Given the description of an element on the screen output the (x, y) to click on. 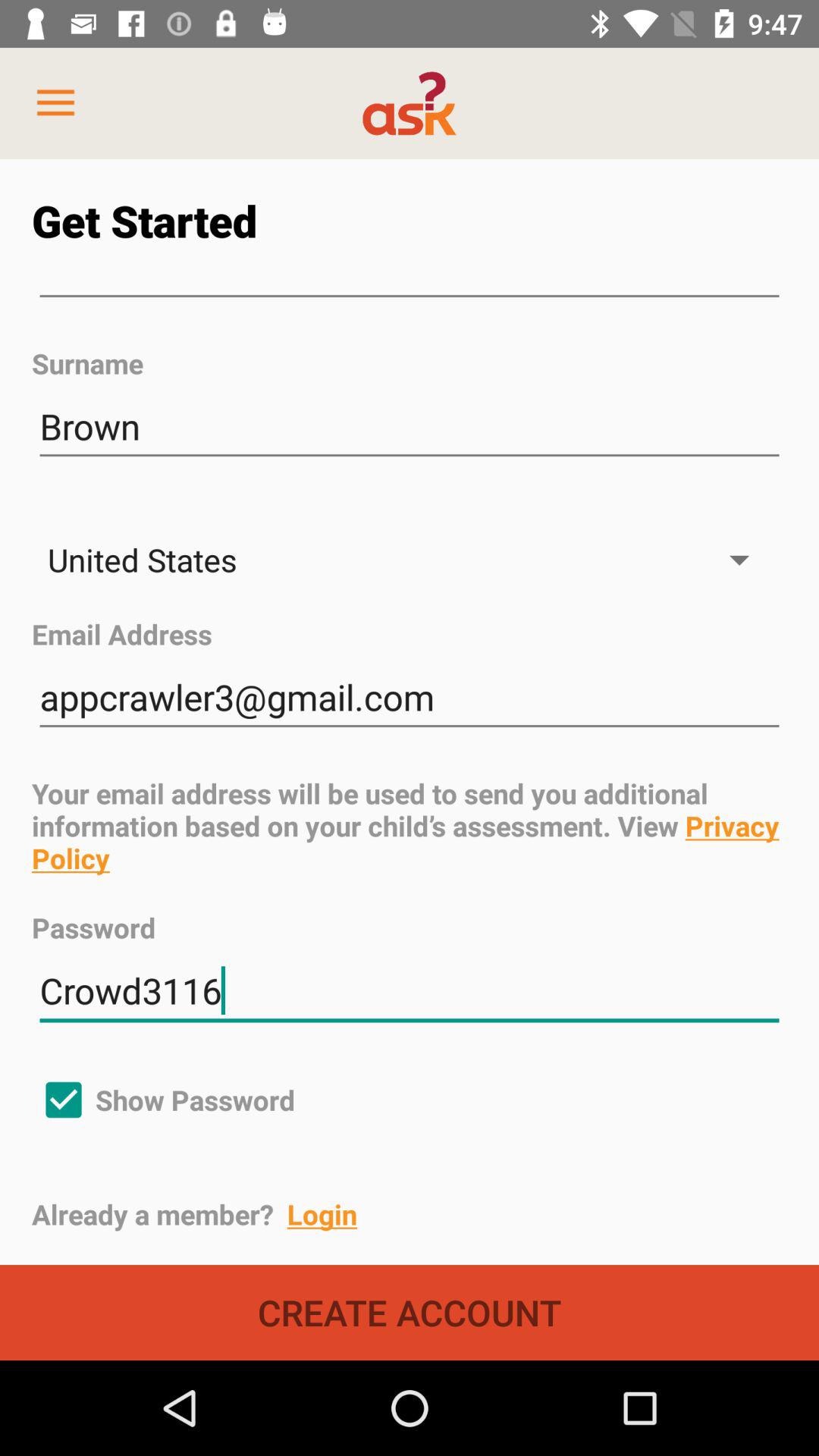
launch the icon below the crowd3116 (163, 1099)
